Given the description of an element on the screen output the (x, y) to click on. 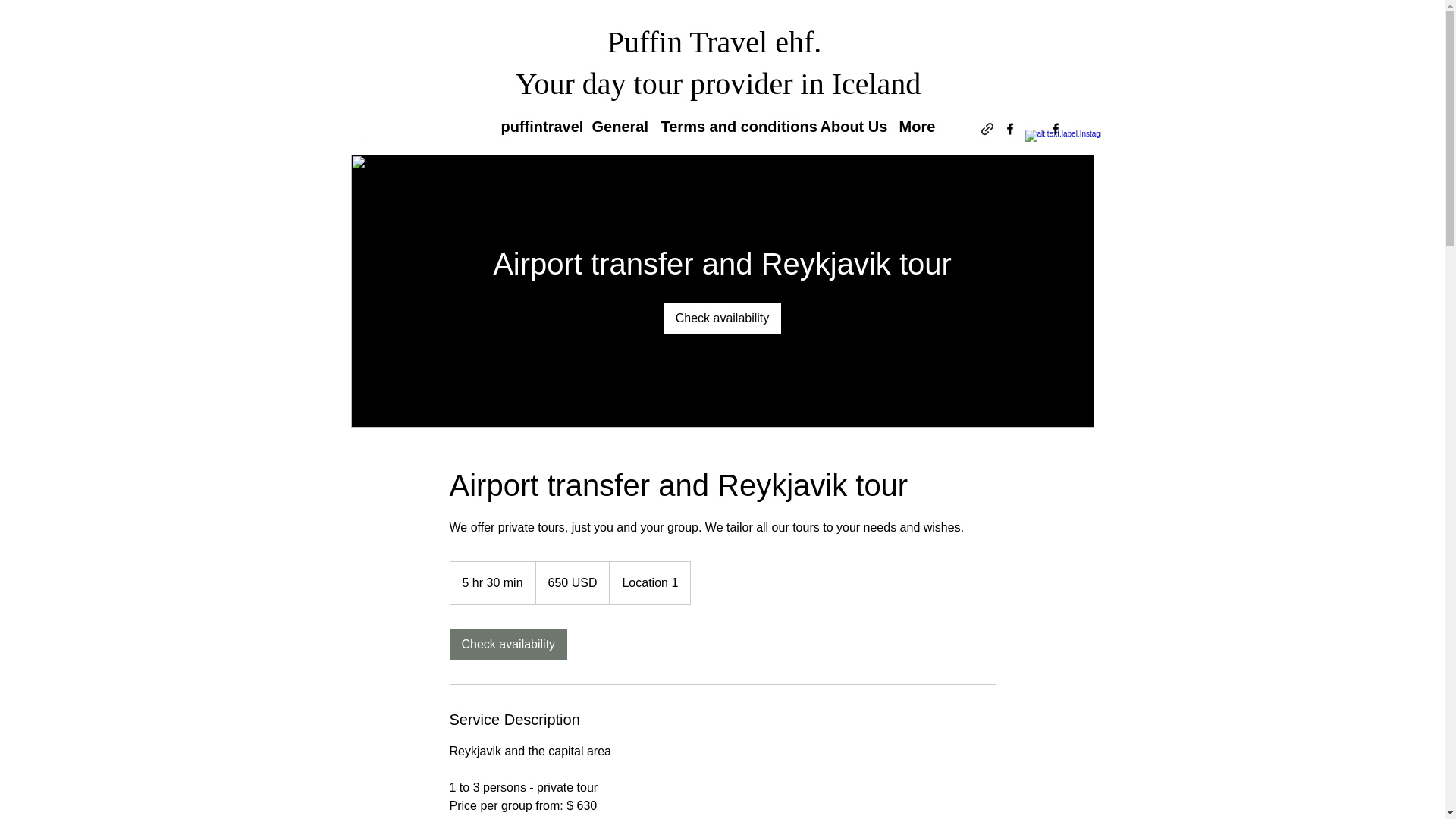
Check availability (507, 644)
General (617, 124)
About Us (851, 124)
puffintravel (538, 124)
Terms and conditions (732, 124)
Check availability (722, 318)
